Given the description of an element on the screen output the (x, y) to click on. 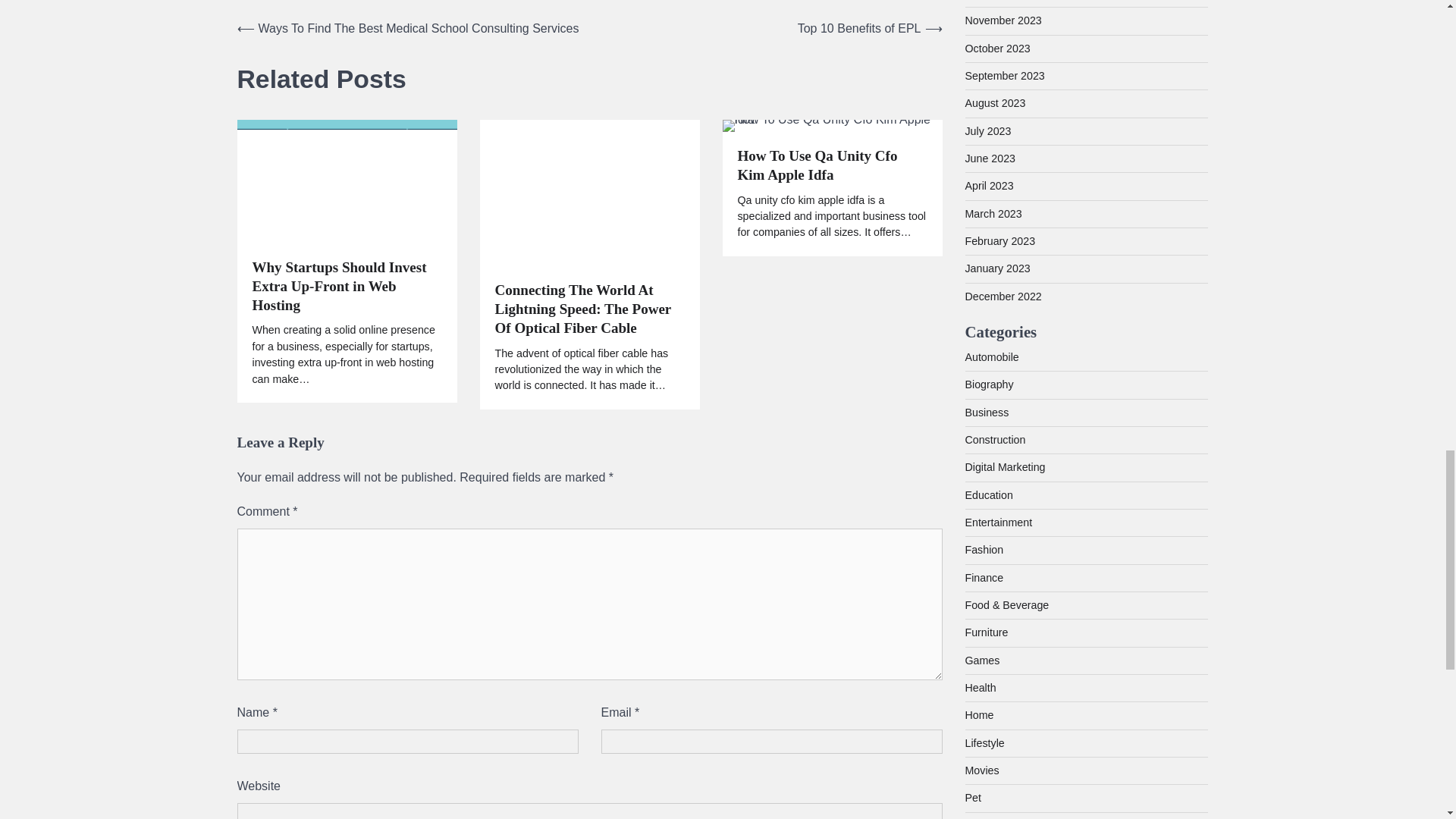
Why Startups Should Invest Extra Up-Front in Web Hosting (346, 181)
Why Startups Should Invest Extra Up-Front in Web Hosting (346, 286)
How To Use Qa Unity Cfo Kim Apple Idfa (832, 125)
How To Use Qa Unity Cfo Kim Apple Idfa (831, 166)
